Given the description of an element on the screen output the (x, y) to click on. 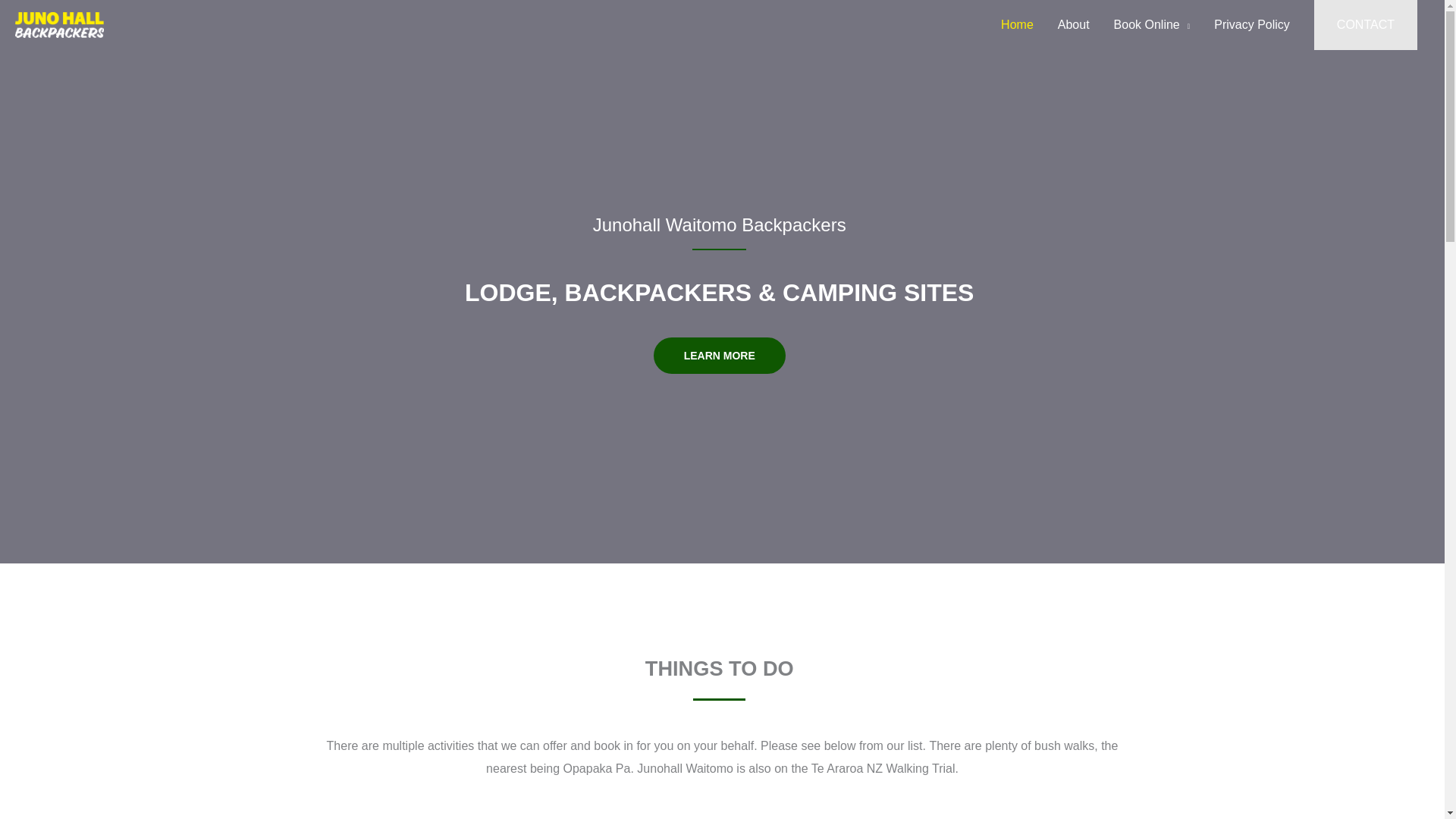
LEARN MORE (719, 355)
Home (1016, 24)
Privacy Policy (1251, 24)
Book Online (1152, 24)
About (1073, 24)
CONTACT (1365, 24)
